Given the description of an element on the screen output the (x, y) to click on. 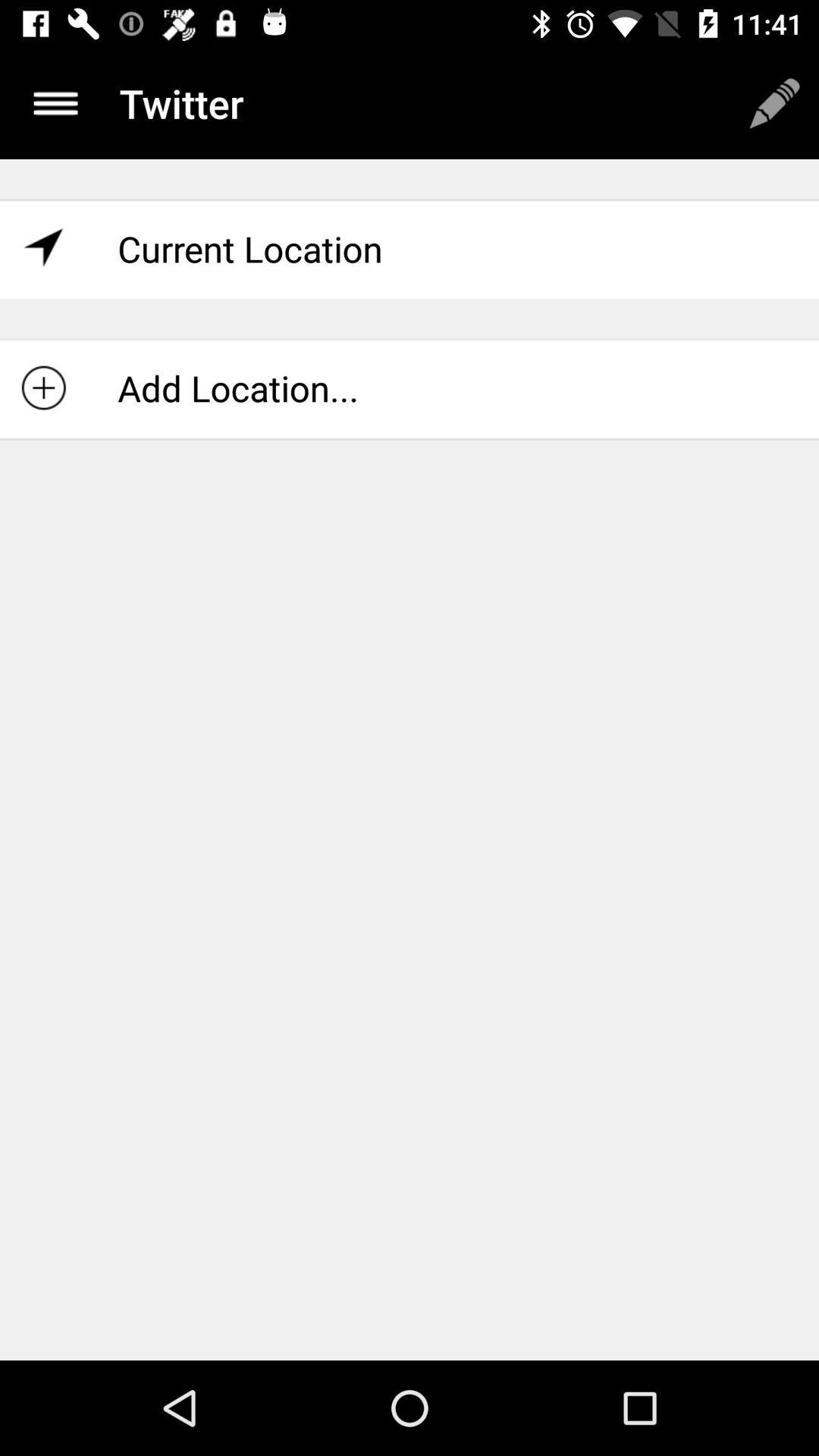
choose the icon above the current location item (55, 103)
